Given the description of an element on the screen output the (x, y) to click on. 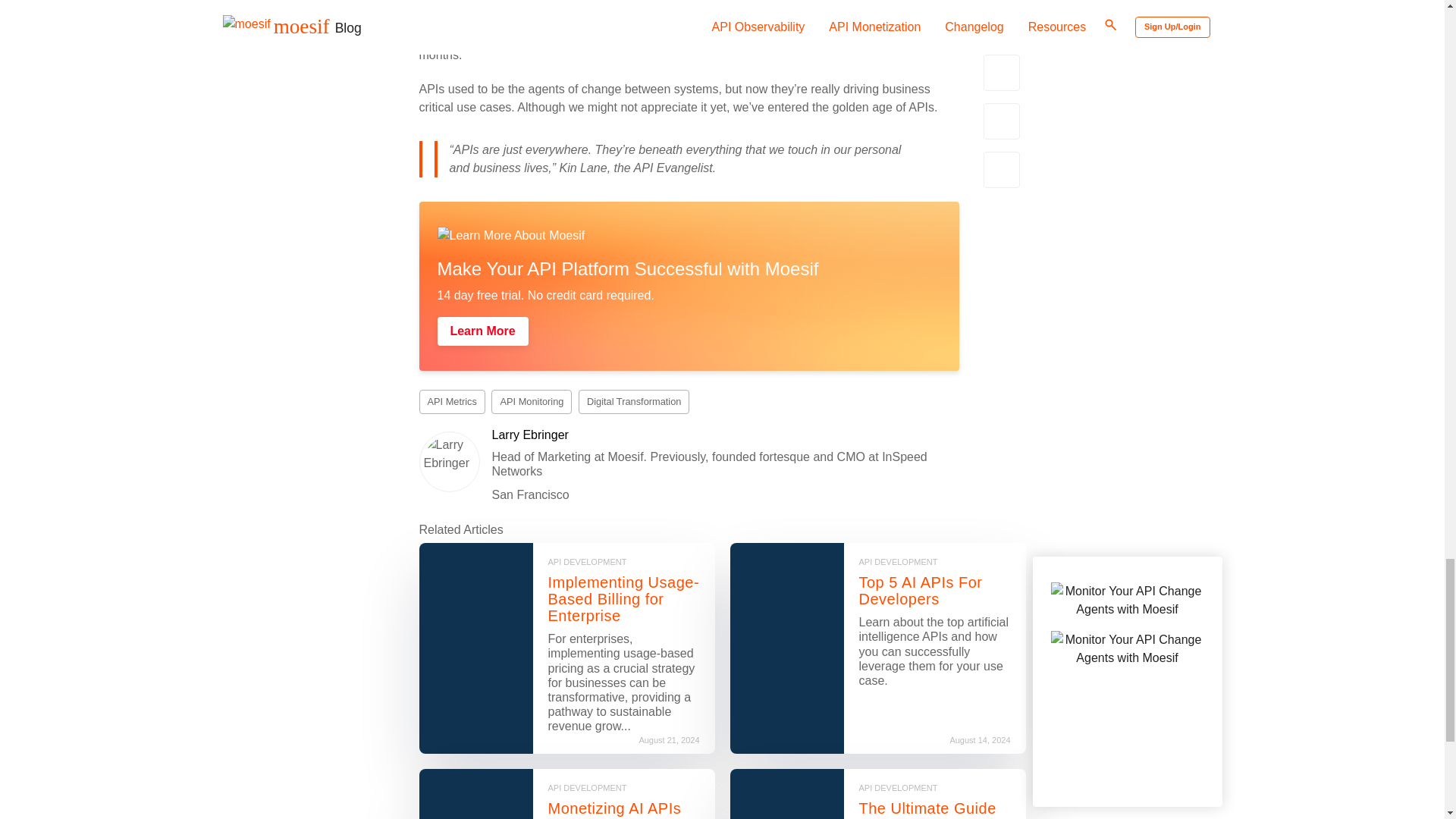
Learn More (481, 330)
Digital Transformation (633, 401)
API Metrics (451, 401)
API Monitoring (532, 401)
